Given the description of an element on the screen output the (x, y) to click on. 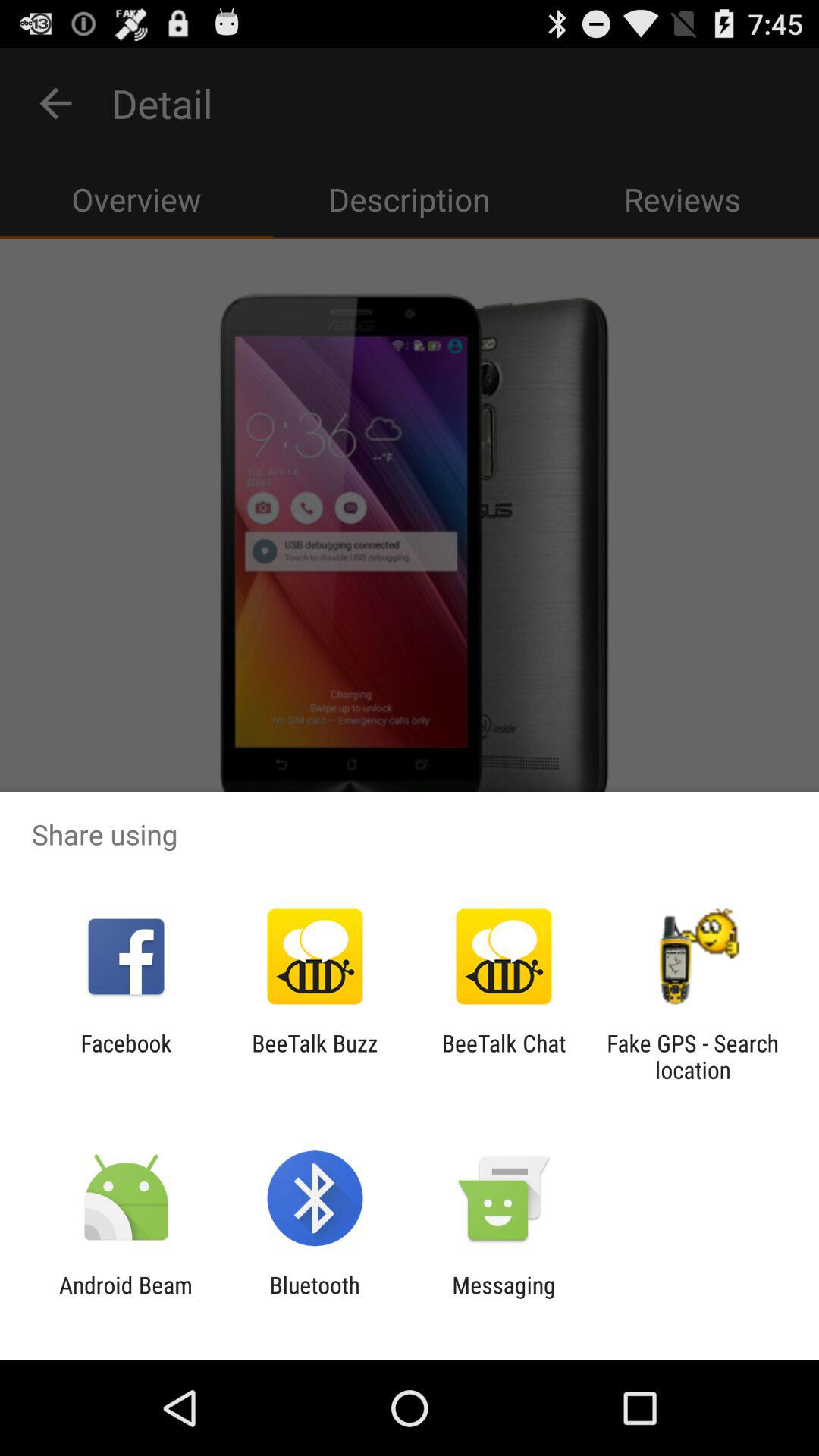
turn off the icon next to the bluetooth item (125, 1298)
